Given the description of an element on the screen output the (x, y) to click on. 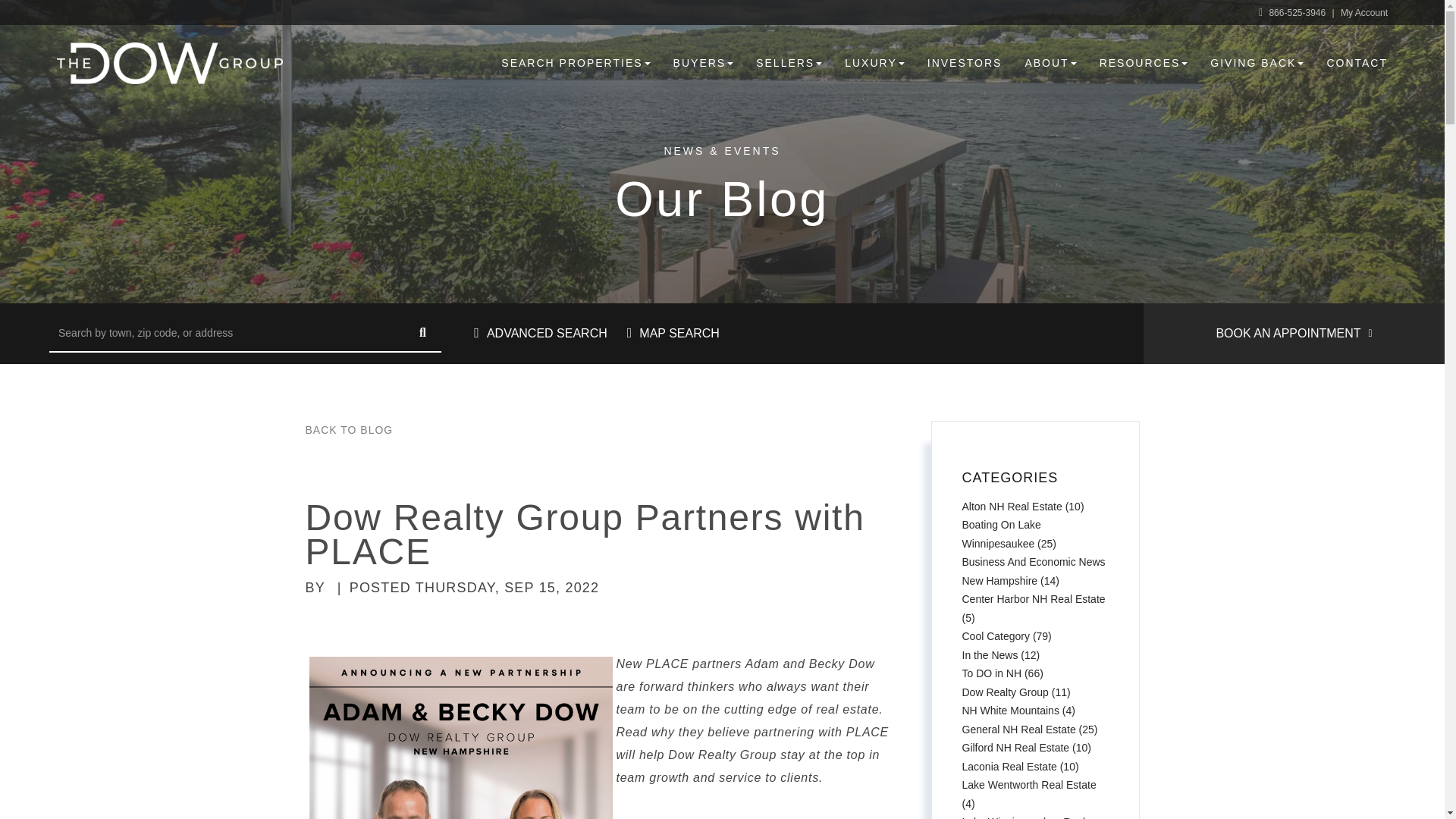
My Account (1363, 12)
SEARCH PROPERTIES (575, 61)
SELLERS (788, 61)
BUYERS (703, 61)
866-525-3946 (1293, 12)
LUXURY (873, 61)
